Given the description of an element on the screen output the (x, y) to click on. 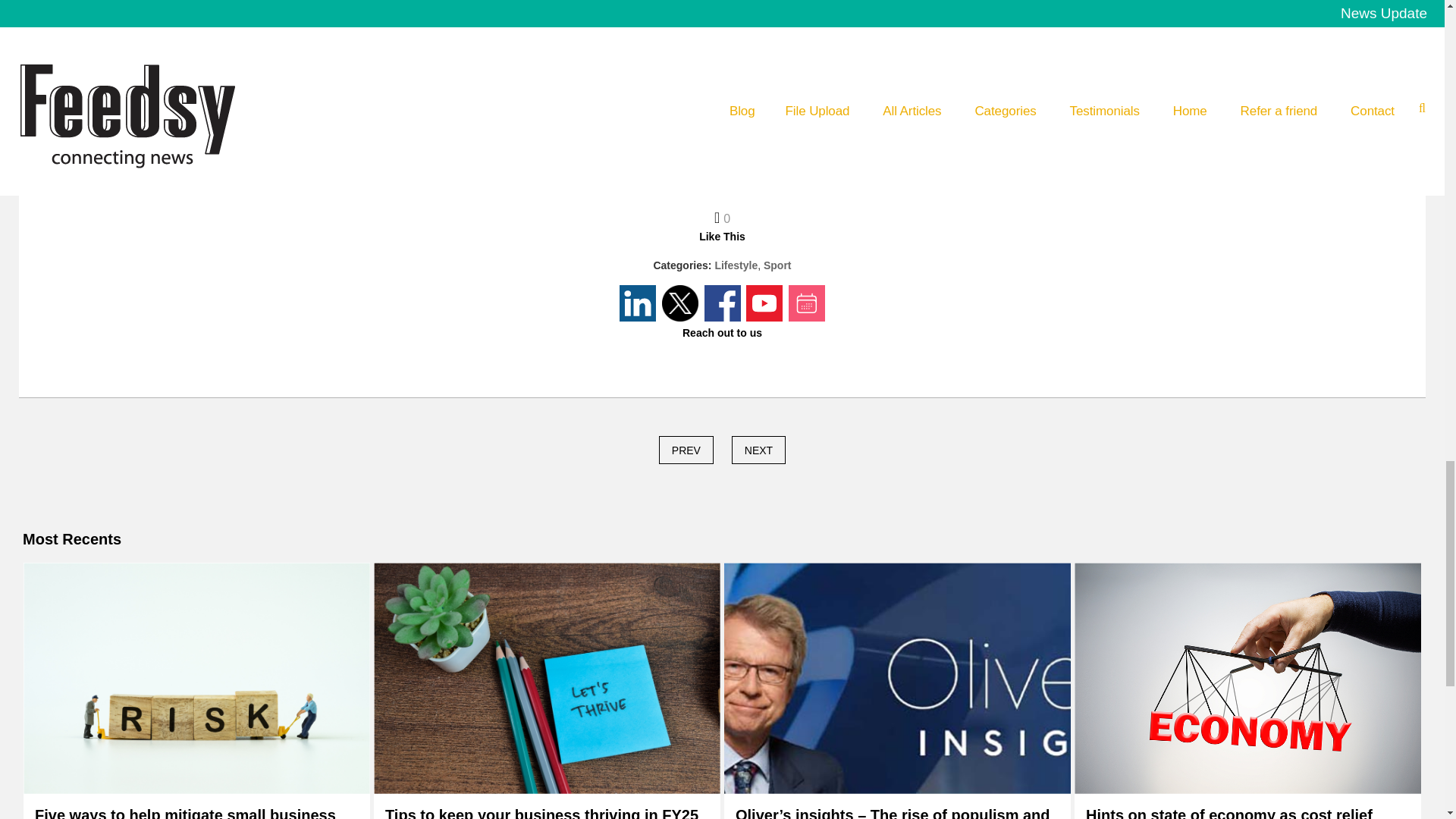
linkedin (659, 160)
Sport (777, 265)
PRINT ME (722, 108)
Tips to keep your business thriving in FY25 (541, 812)
Five ways to help mitigate small business risks (196, 812)
facebook (742, 160)
mail (786, 160)
twitter (701, 160)
PREV (686, 449)
NEXT (759, 449)
Lifestyle (735, 265)
